Given the description of an element on the screen output the (x, y) to click on. 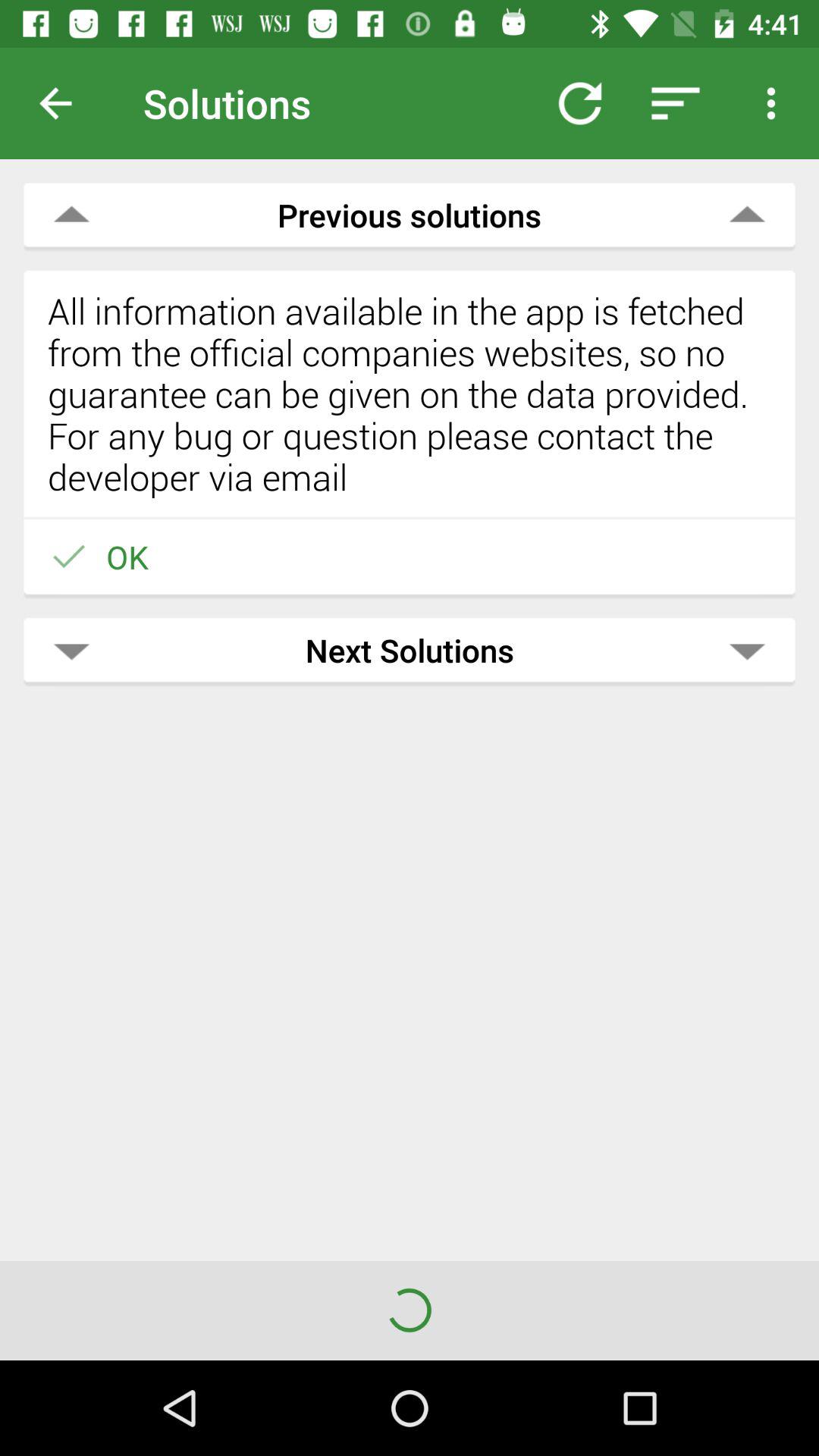
go back (67, 103)
